Given the description of an element on the screen output the (x, y) to click on. 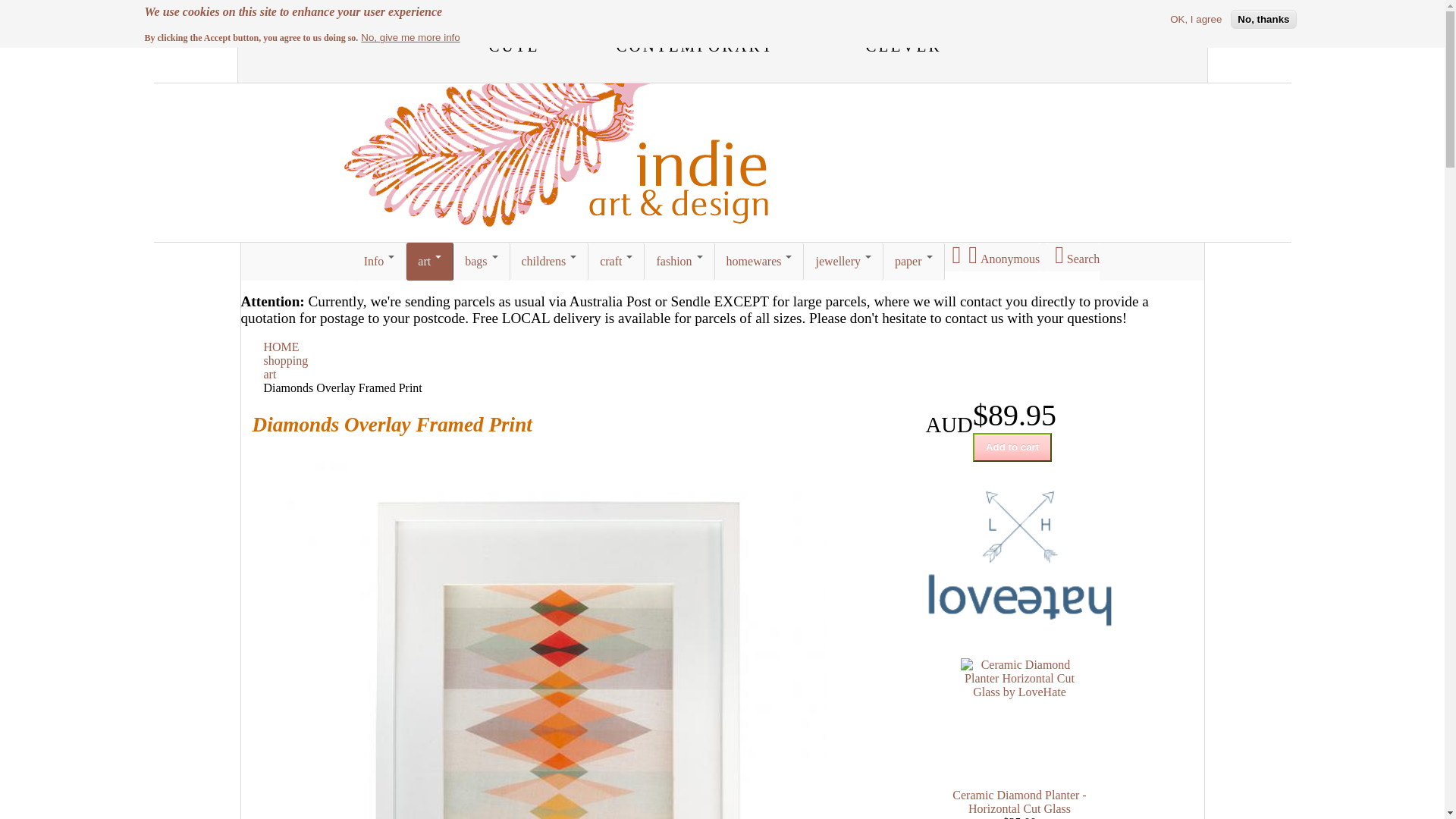
fashion Element type: text (679, 261)
Anonymous Element type: text (999, 256)
art Element type: text (429, 261)
No, thanks Element type: text (1262, 18)
craft Element type: text (616, 261)
jewellery Element type: text (843, 261)
homewares Element type: text (759, 261)
cute Element type: text (513, 43)
Ceramic Diamond Planter - Horizontal Cut Glass Element type: text (1018, 801)
Ceramic Diamond Planter Horizontal Cut Glass by LoveHate Element type: hover (1019, 717)
Info Element type: text (379, 261)
No, give me more info Element type: text (409, 37)
contemporary Element type: text (694, 43)
Add to cart Element type: text (1011, 447)
HOME Element type: text (281, 346)
shopping Element type: text (285, 360)
Search Element type: text (1073, 256)
Skip to main content Element type: text (6, 6)
childrens Element type: text (549, 261)
paper Element type: text (913, 261)
bags Element type: text (481, 261)
OK, I agree Element type: text (1195, 19)
art Element type: text (269, 373)
clever Element type: text (903, 43)
